Given the description of an element on the screen output the (x, y) to click on. 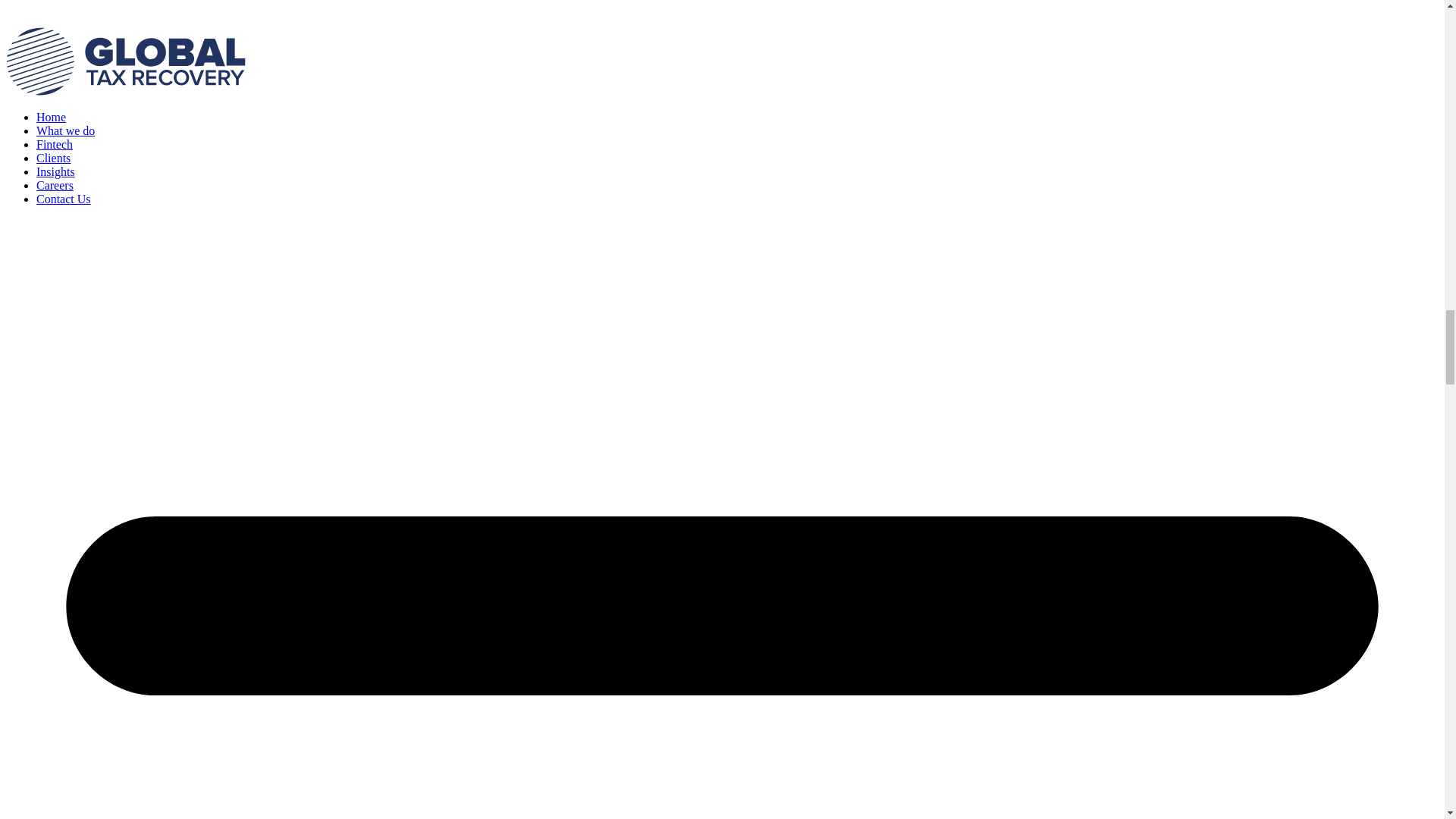
Insights (55, 171)
Careers (55, 185)
Home (50, 116)
Fintech (54, 144)
What we do (65, 130)
Clients (52, 157)
Contact Us (63, 198)
